Given the description of an element on the screen output the (x, y) to click on. 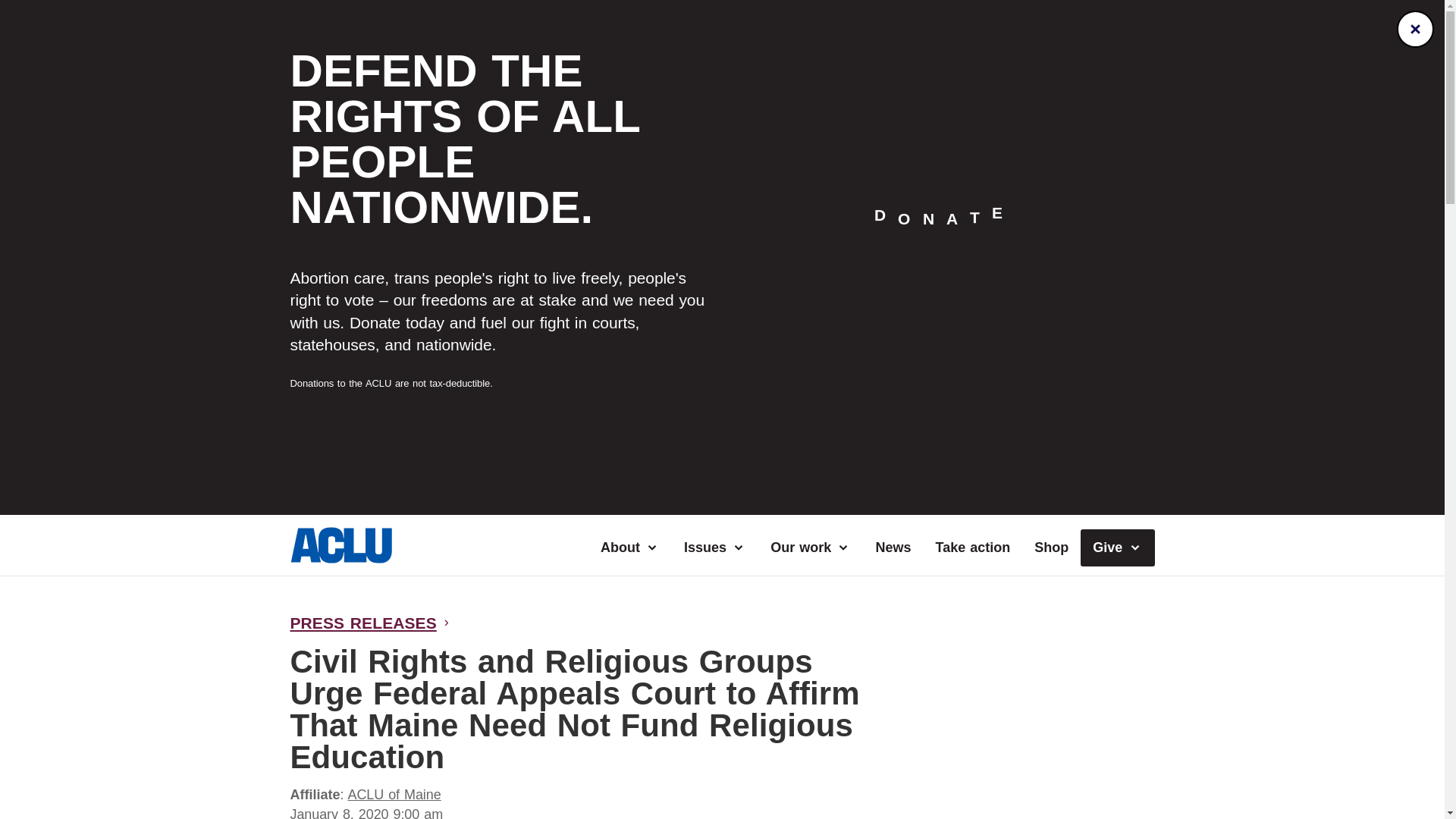
ACLU.org (340, 558)
Issues (714, 547)
News (893, 547)
About (629, 547)
Our work (810, 547)
